Given the description of an element on the screen output the (x, y) to click on. 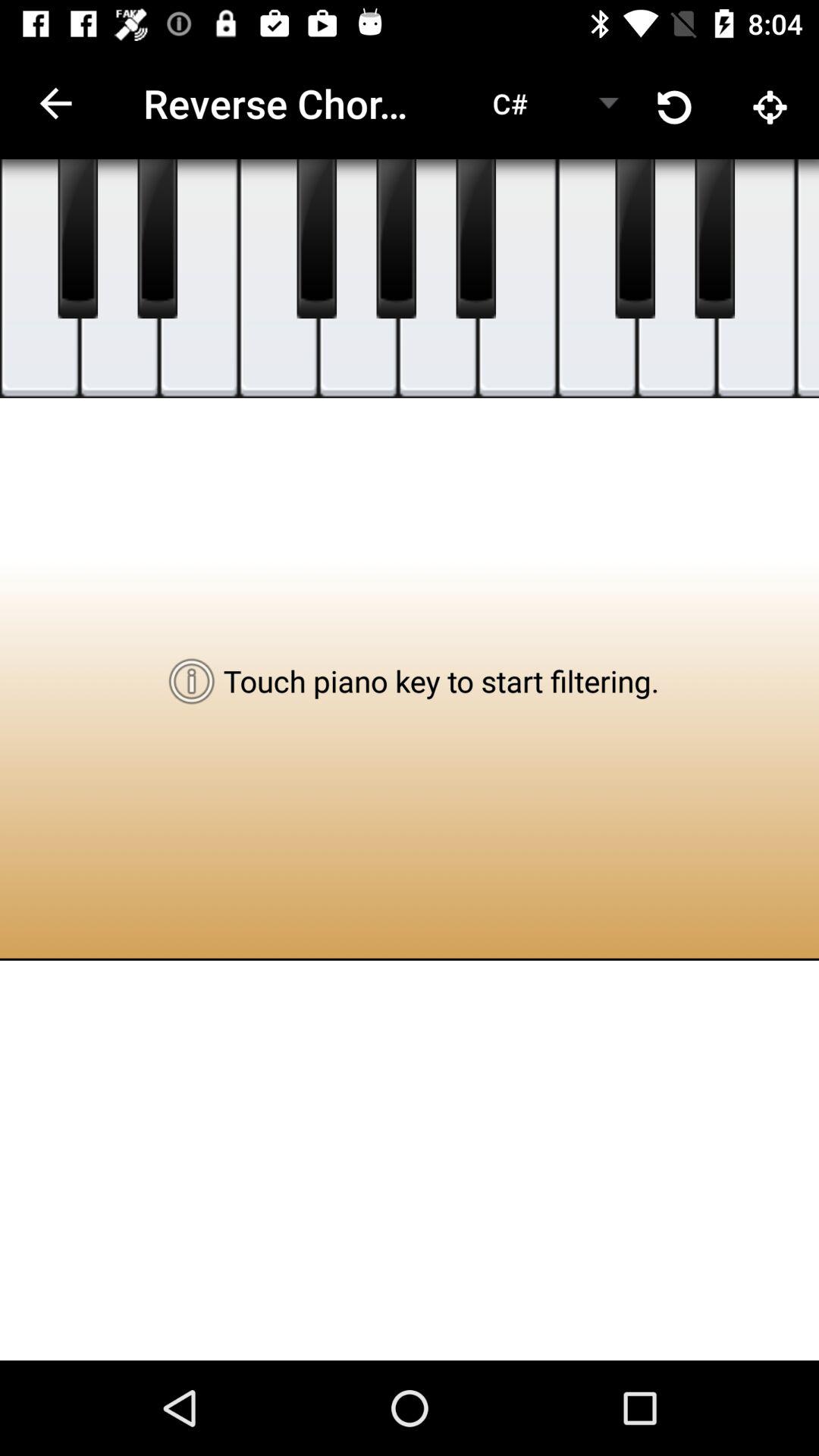
go back (157, 238)
